Given the description of an element on the screen output the (x, y) to click on. 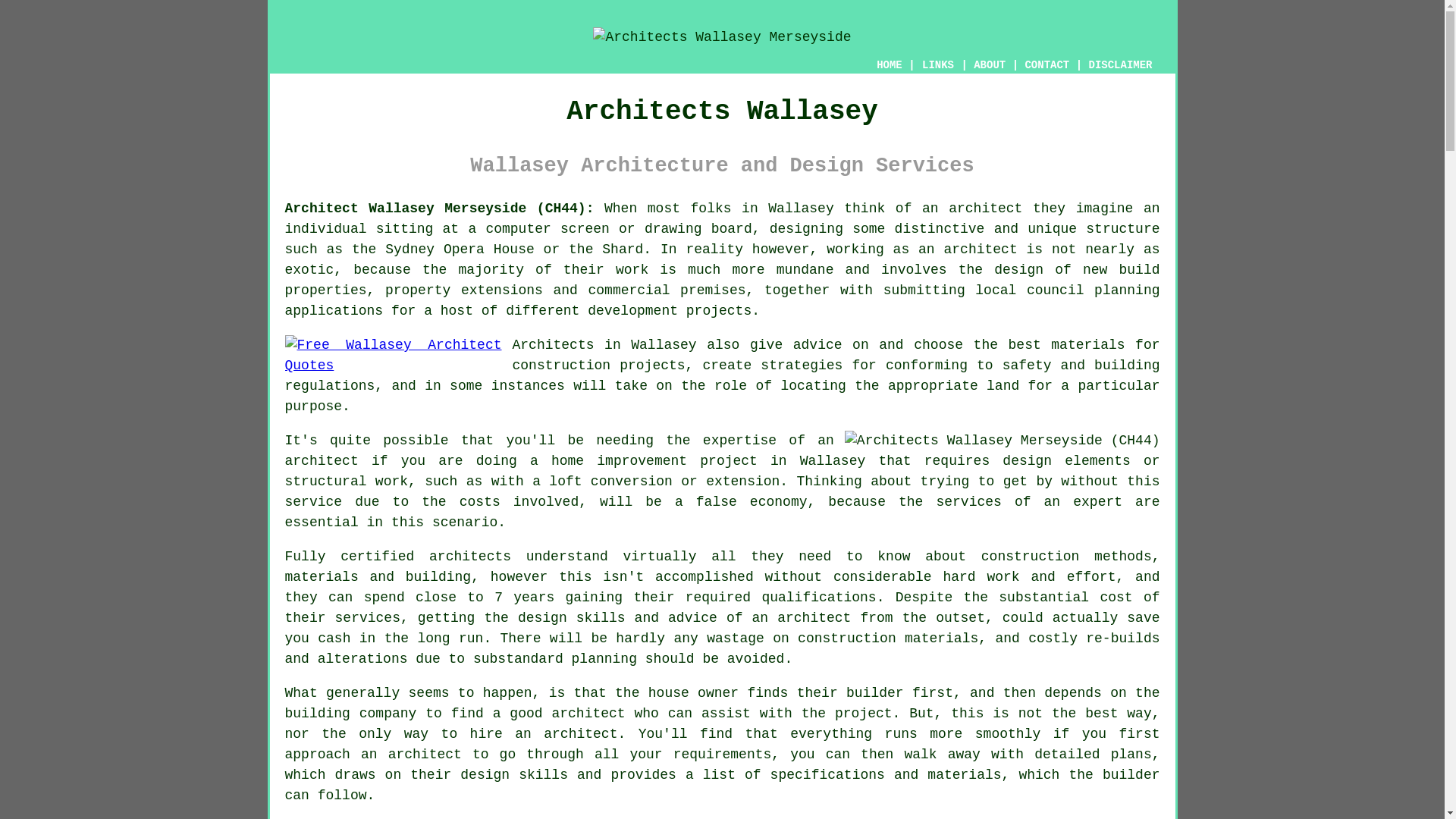
architects (470, 556)
HOME (889, 64)
Architects Wallasey (722, 37)
an architect (559, 450)
architect (985, 208)
LINKS (938, 65)
architect (587, 713)
Free Wallasey Architect Quotes (393, 354)
